Given the description of an element on the screen output the (x, y) to click on. 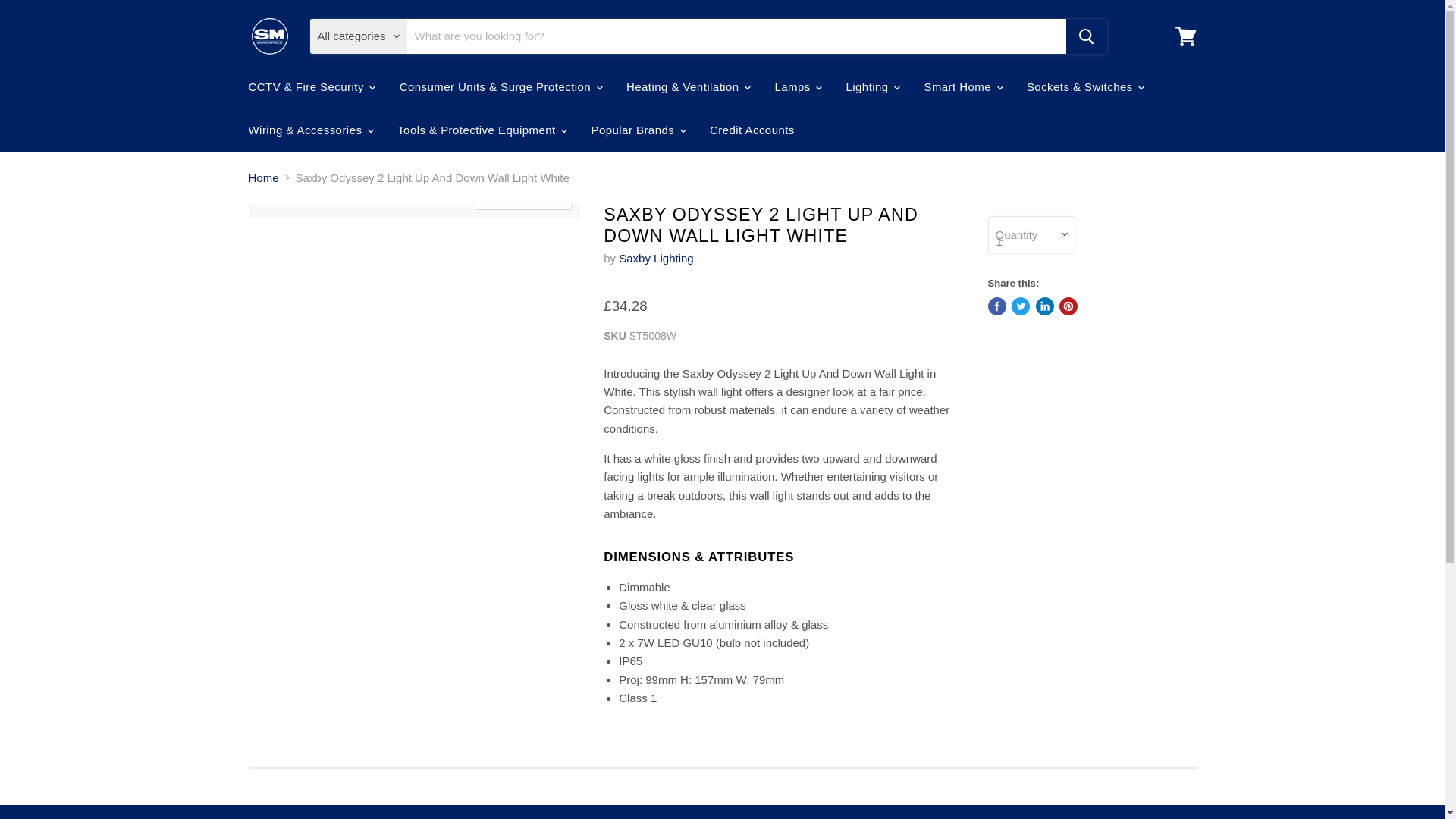
Saxby Lighting (655, 257)
Smart Home (961, 86)
Lighting (871, 86)
View cart (1185, 36)
Lamps (796, 86)
